Given the description of an element on the screen output the (x, y) to click on. 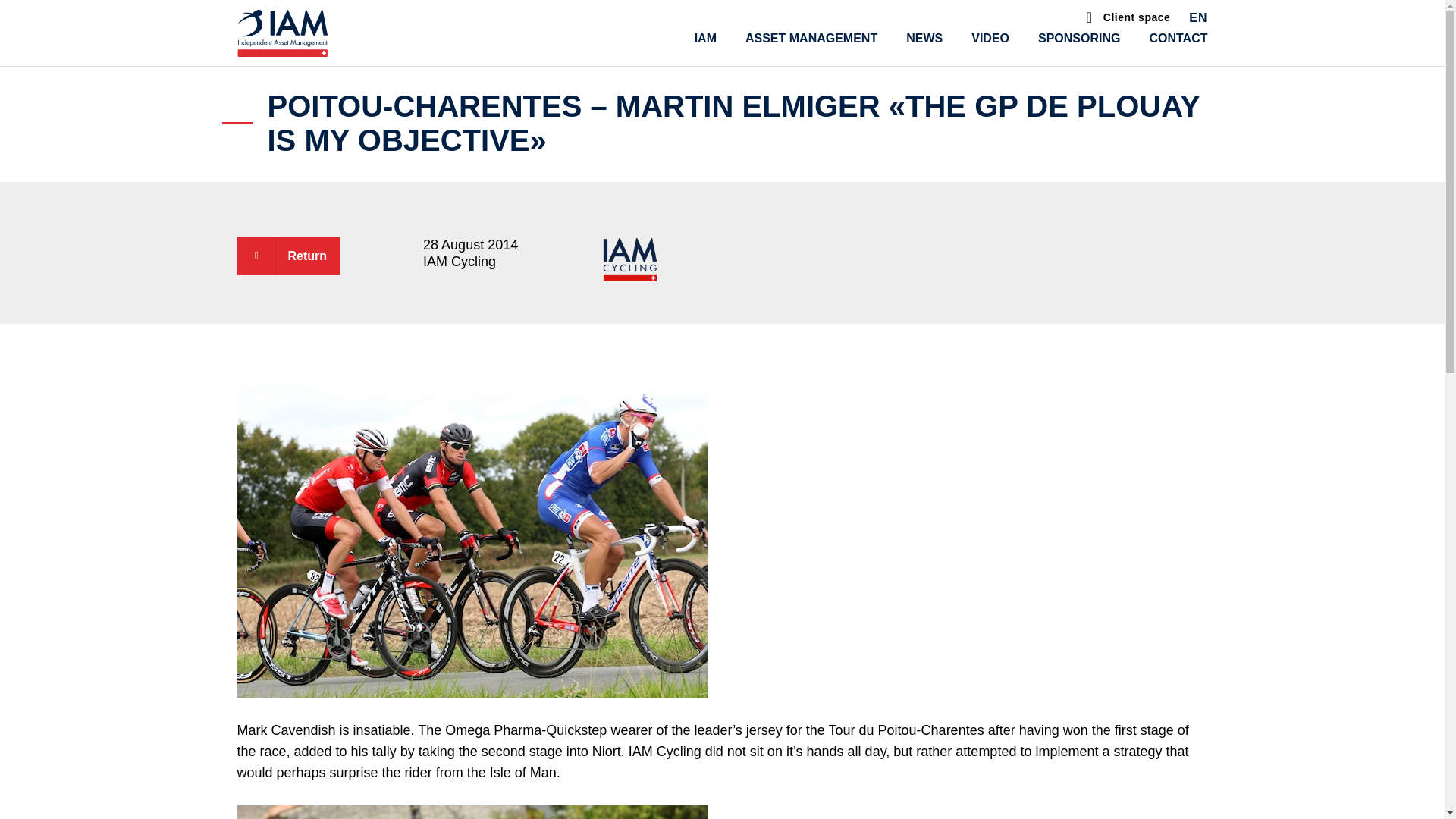
Return (287, 255)
VIDEO (990, 38)
NEWS (923, 38)
SPONSORING (1078, 38)
EN (1198, 19)
ASSET MANAGEMENT (811, 38)
IAM (705, 38)
CONTACT (1177, 38)
